Given the description of an element on the screen output the (x, y) to click on. 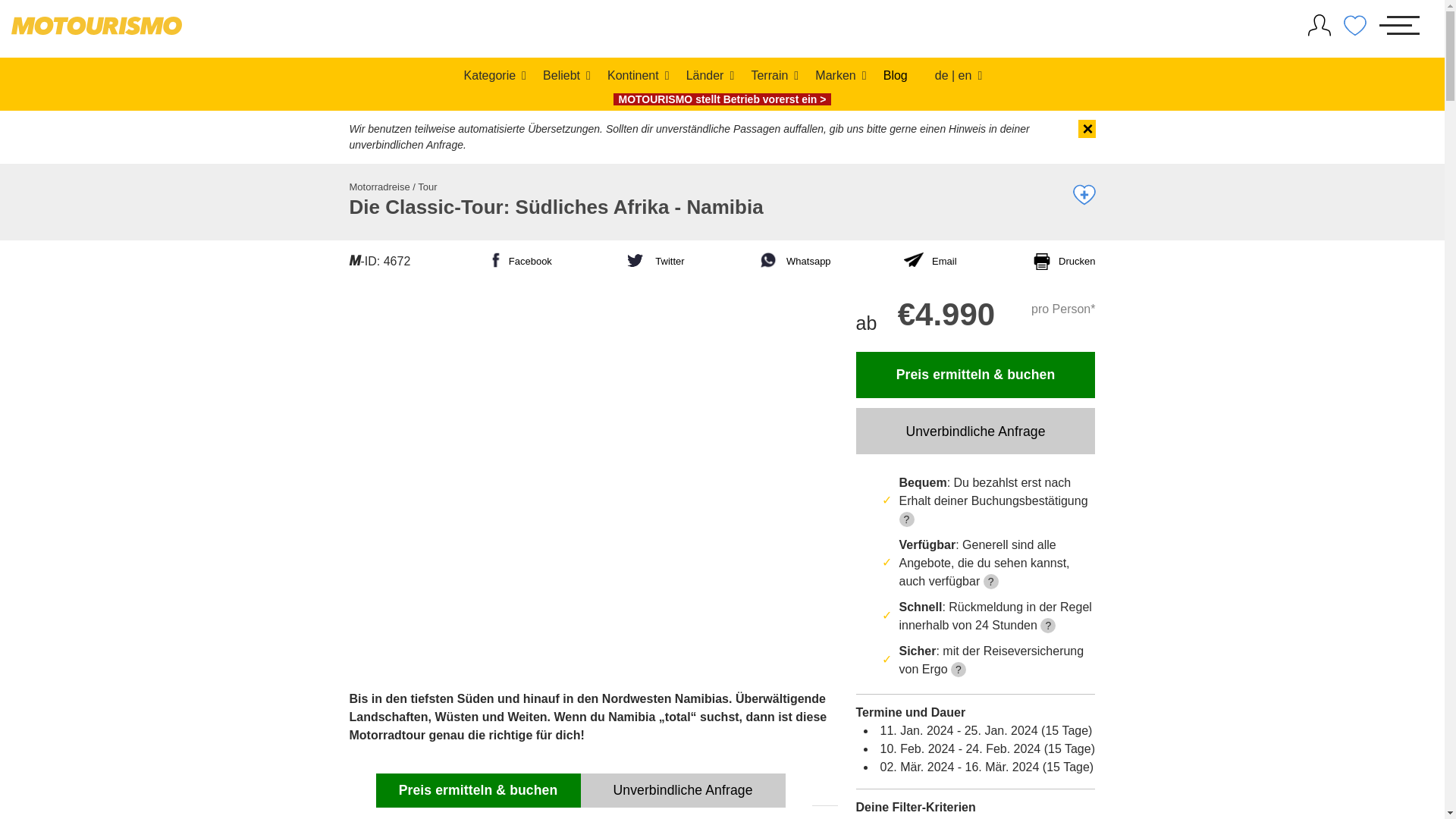
Email (930, 259)
Twitter (654, 268)
Unverbindliche Anfrage (975, 430)
Unverbindliche Anfrage (683, 790)
facebook (517, 268)
WhatsApp (794, 268)
Facebook (517, 268)
Blog (895, 74)
EMail (930, 259)
Whatsapp (794, 268)
Drucken (1062, 265)
Print (1062, 265)
twitter (654, 268)
